Given the description of an element on the screen output the (x, y) to click on. 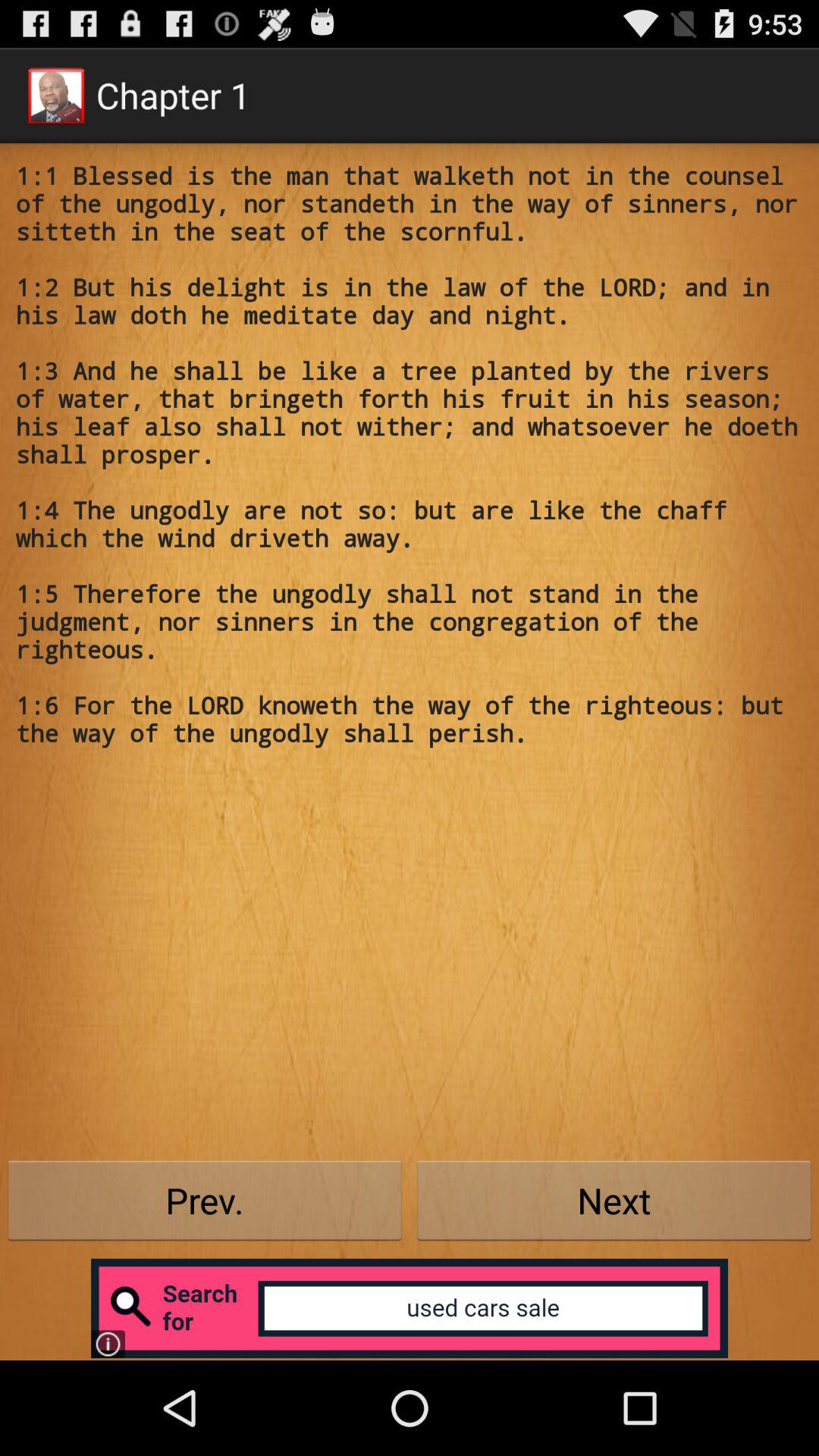
advertisement page (409, 1308)
